Given the description of an element on the screen output the (x, y) to click on. 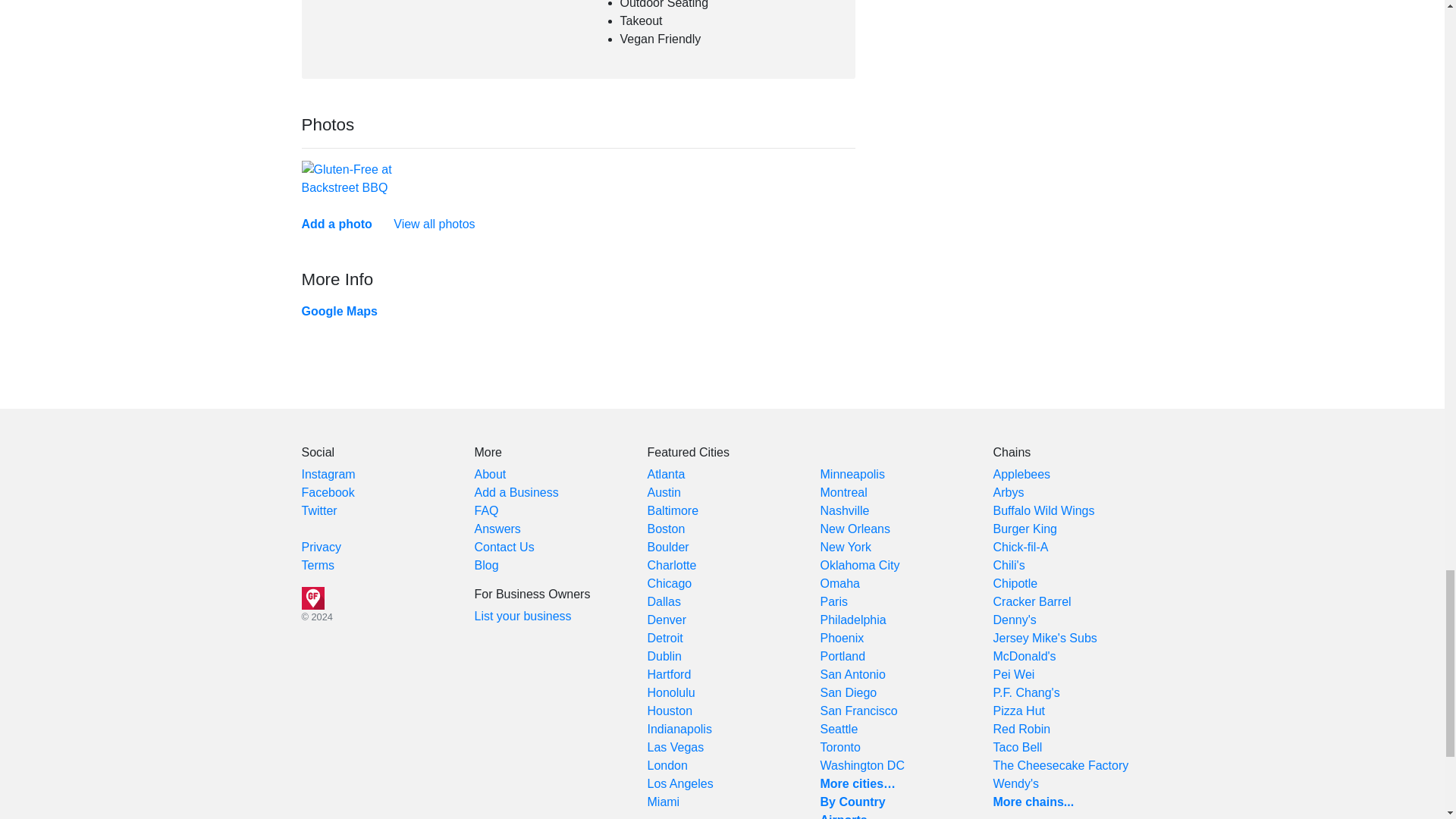
Google Maps (339, 310)
Facebook (328, 492)
Instagram (328, 473)
Twitter (319, 510)
Add a photo (336, 223)
Privacy (320, 546)
Terms (317, 564)
View all photos (433, 223)
